Given the description of an element on the screen output the (x, y) to click on. 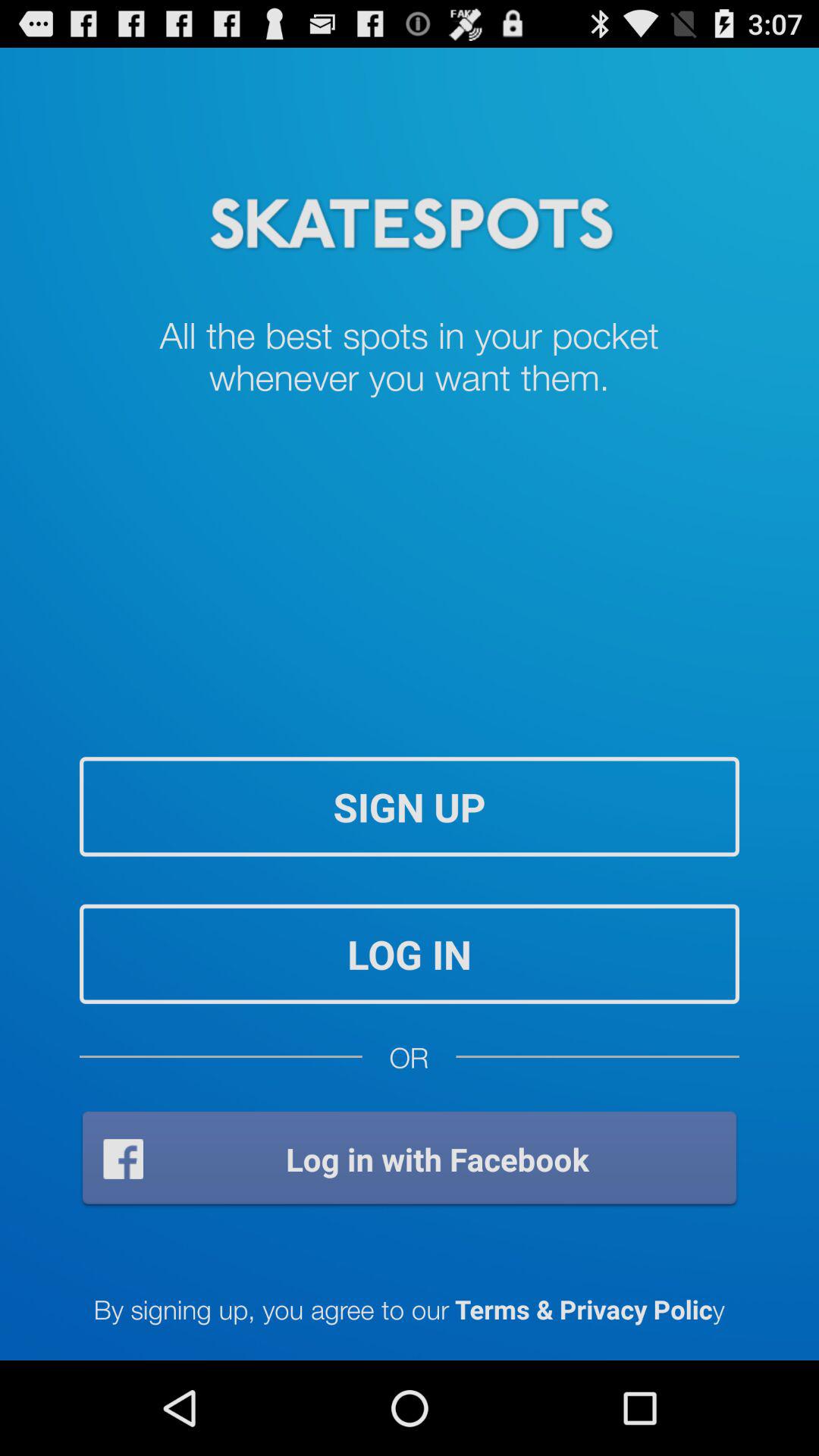
launch icon below the log in with icon (408, 1308)
